Given the description of an element on the screen output the (x, y) to click on. 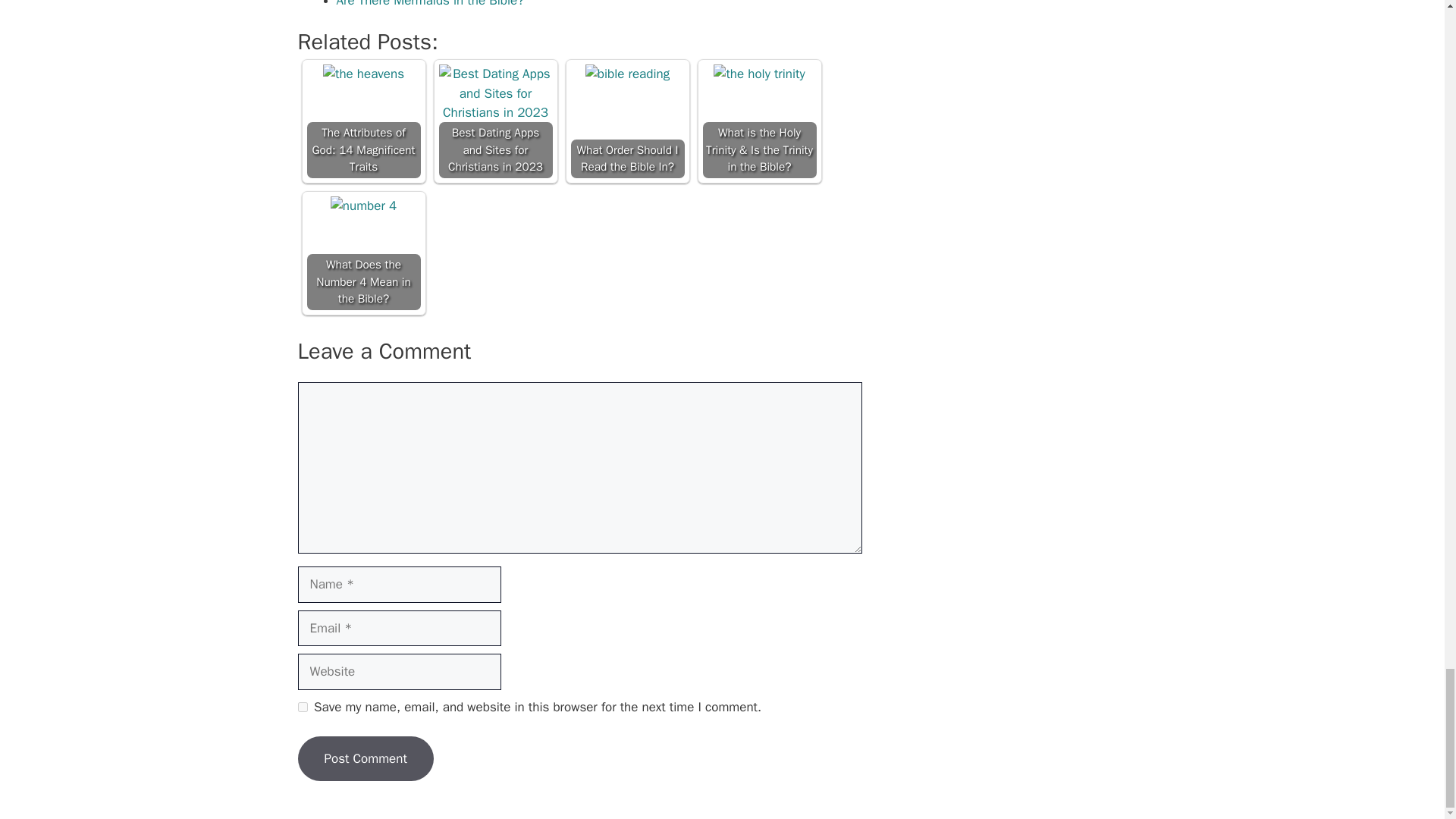
yes (302, 706)
What Does the Number 4 Mean in the Bible? (363, 206)
What Order Should I Read the Bible In? (627, 74)
Post Comment (364, 759)
The Attributes of God: 14 Magnificent Traits (363, 74)
Are There Mermaids in the Bible? (430, 4)
Best Dating Apps and Sites for Christians in 2023 (494, 93)
